Given the description of an element on the screen output the (x, y) to click on. 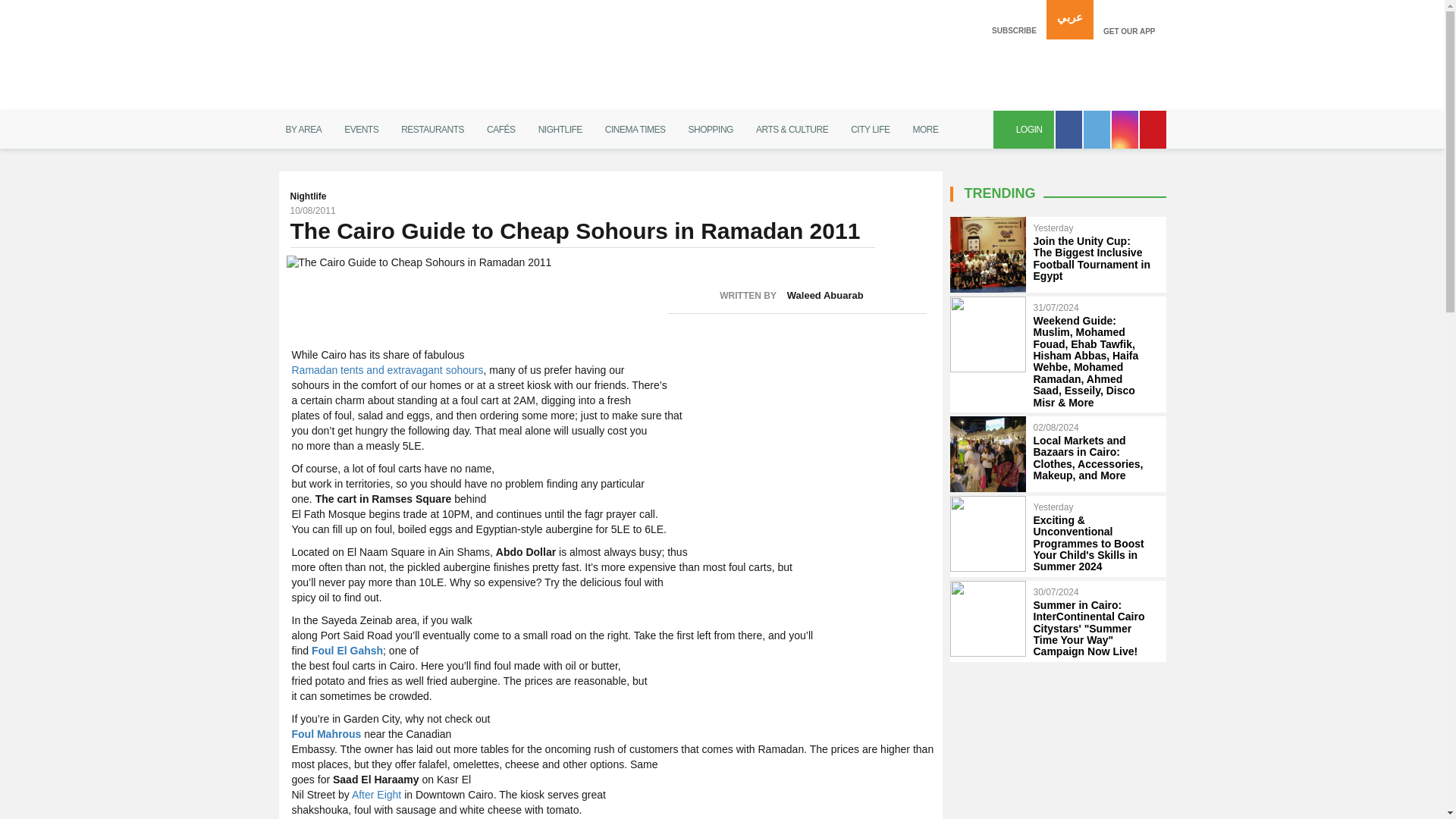
LOGIN (1023, 129)
CINEMA TIMES (635, 129)
CITY LIFE (870, 129)
BY AREA (304, 129)
RESTAURANTS (433, 129)
EVENTS (361, 129)
GET OUR APP (1129, 19)
SUBSCRIBE (1013, 19)
SHOPPING (710, 129)
NIGHTLIFE (560, 129)
MORE (925, 129)
